Given the description of an element on the screen output the (x, y) to click on. 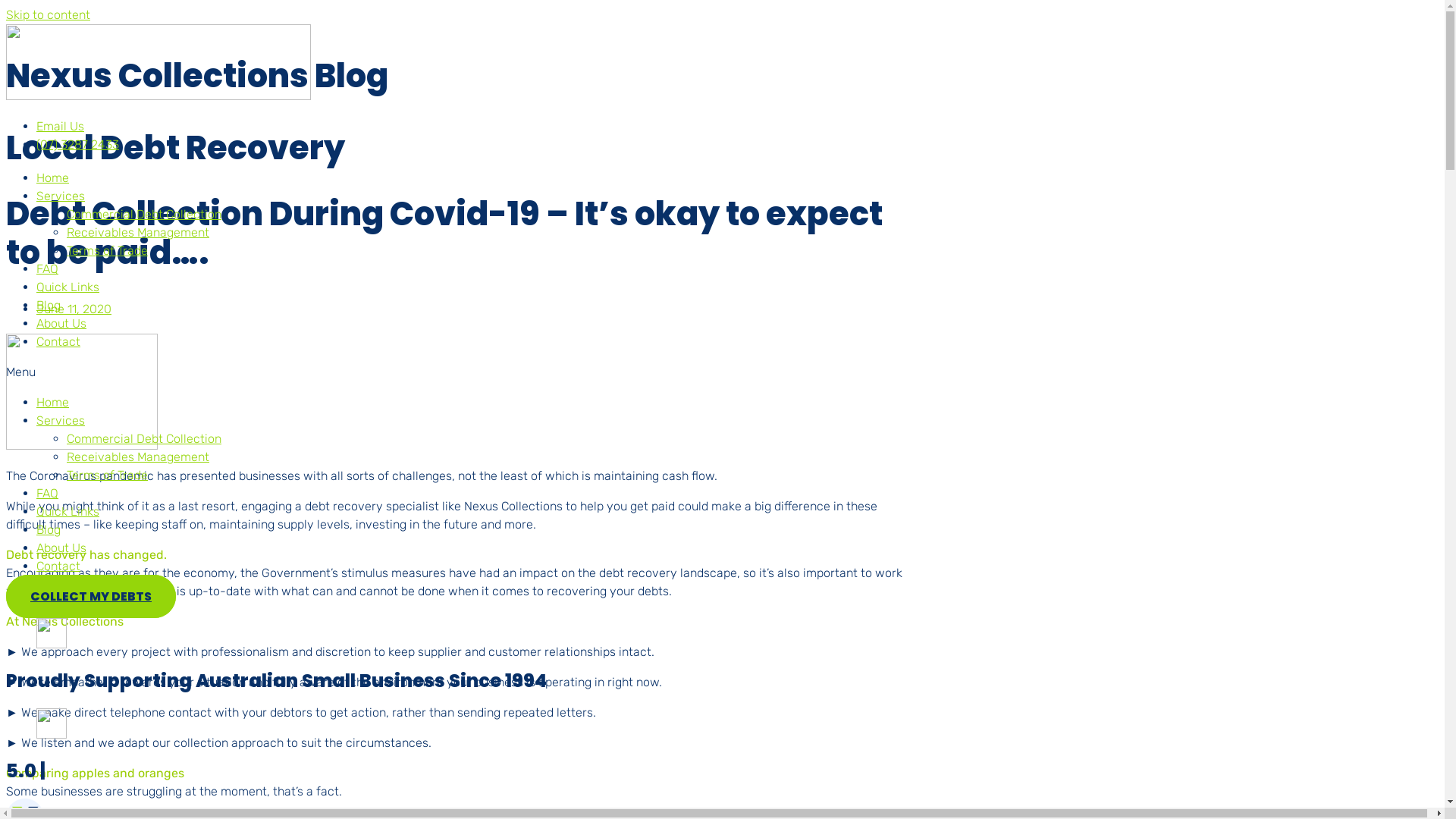
FAQ Element type: text (47, 268)
Commercial Debt Collection Element type: text (143, 438)
Home Element type: text (52, 402)
June 11, 2020 Element type: text (73, 308)
Skip to content Element type: text (48, 14)
About Us Element type: text (61, 547)
Contact Element type: text (58, 341)
Contact Element type: text (58, 565)
Services Element type: text (60, 195)
COLLECT MY DEBTS Element type: text (90, 596)
Commercial Debt Collection Element type: text (143, 214)
Quick Links Element type: text (67, 286)
About Us Element type: text (61, 323)
Blog Element type: text (48, 305)
Receivables Management Element type: text (137, 456)
(07) 3287 2433 Element type: text (77, 144)
FAQ Element type: text (47, 493)
Blog Element type: text (48, 529)
Home Element type: text (52, 177)
Email Us Element type: text (60, 126)
Services Element type: text (60, 420)
Terms of Trade Element type: text (106, 474)
Quick Links Element type: text (67, 511)
Receivables Management Element type: text (137, 232)
Terms of Trade Element type: text (106, 250)
